Given the description of an element on the screen output the (x, y) to click on. 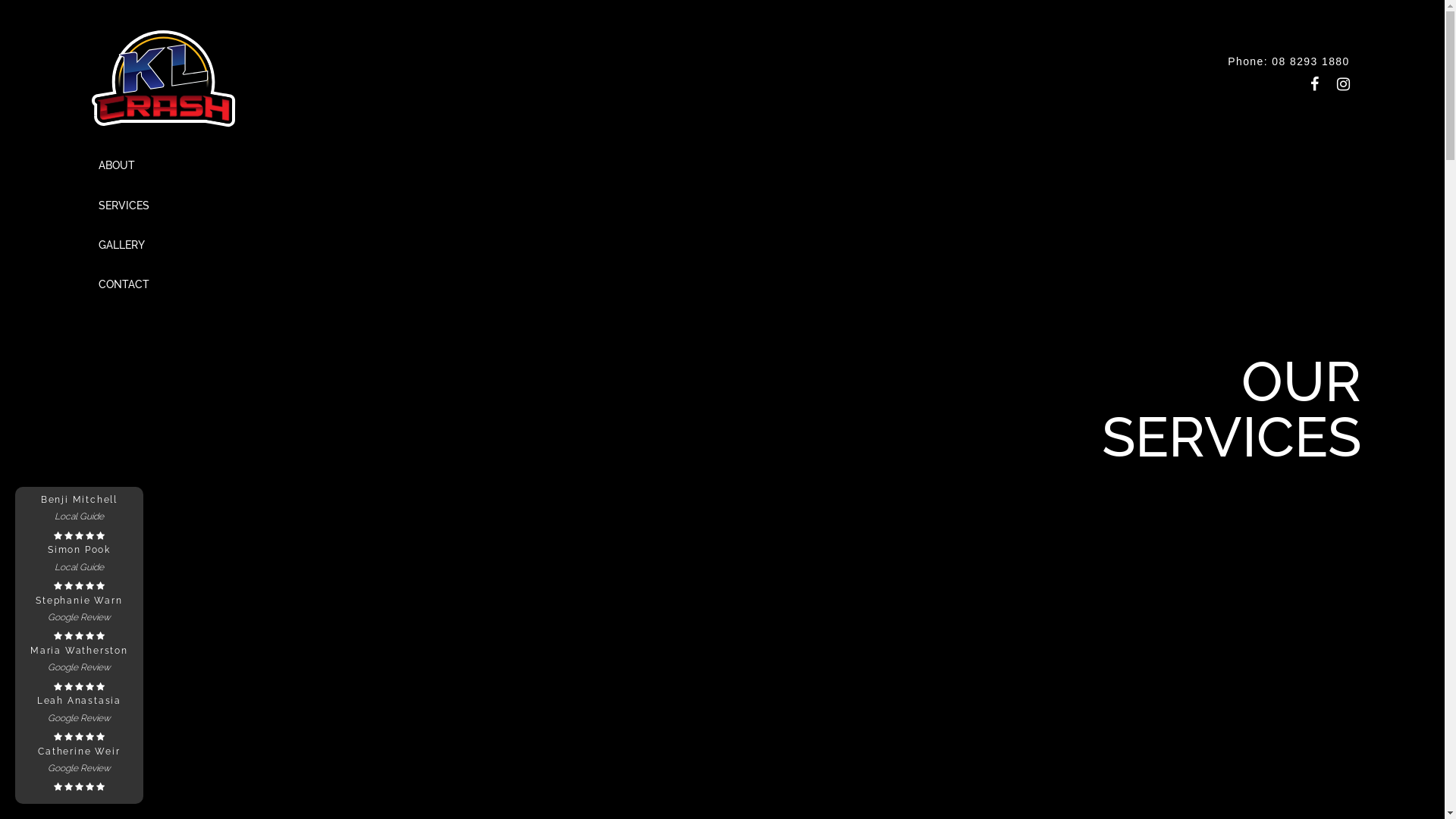
GALLERY Element type: text (121, 244)
SERVICES Element type: text (123, 204)
Phone: 08 8293 1880 Element type: text (1288, 61)
CONTACT Element type: text (123, 284)
ABOUT Element type: text (116, 164)
